Given the description of an element on the screen output the (x, y) to click on. 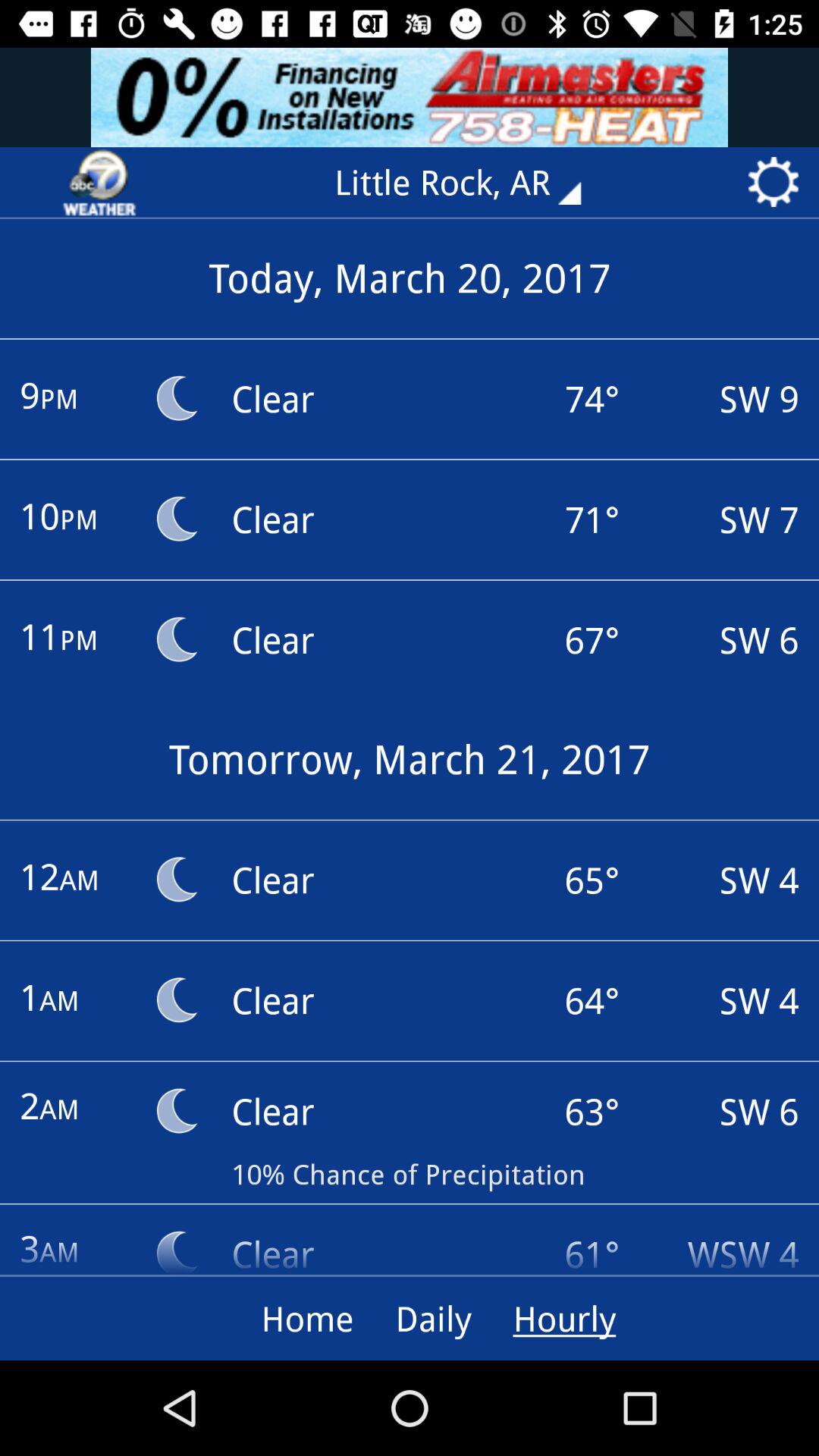
turn off the little rock, ar item (468, 182)
